Given the description of an element on the screen output the (x, y) to click on. 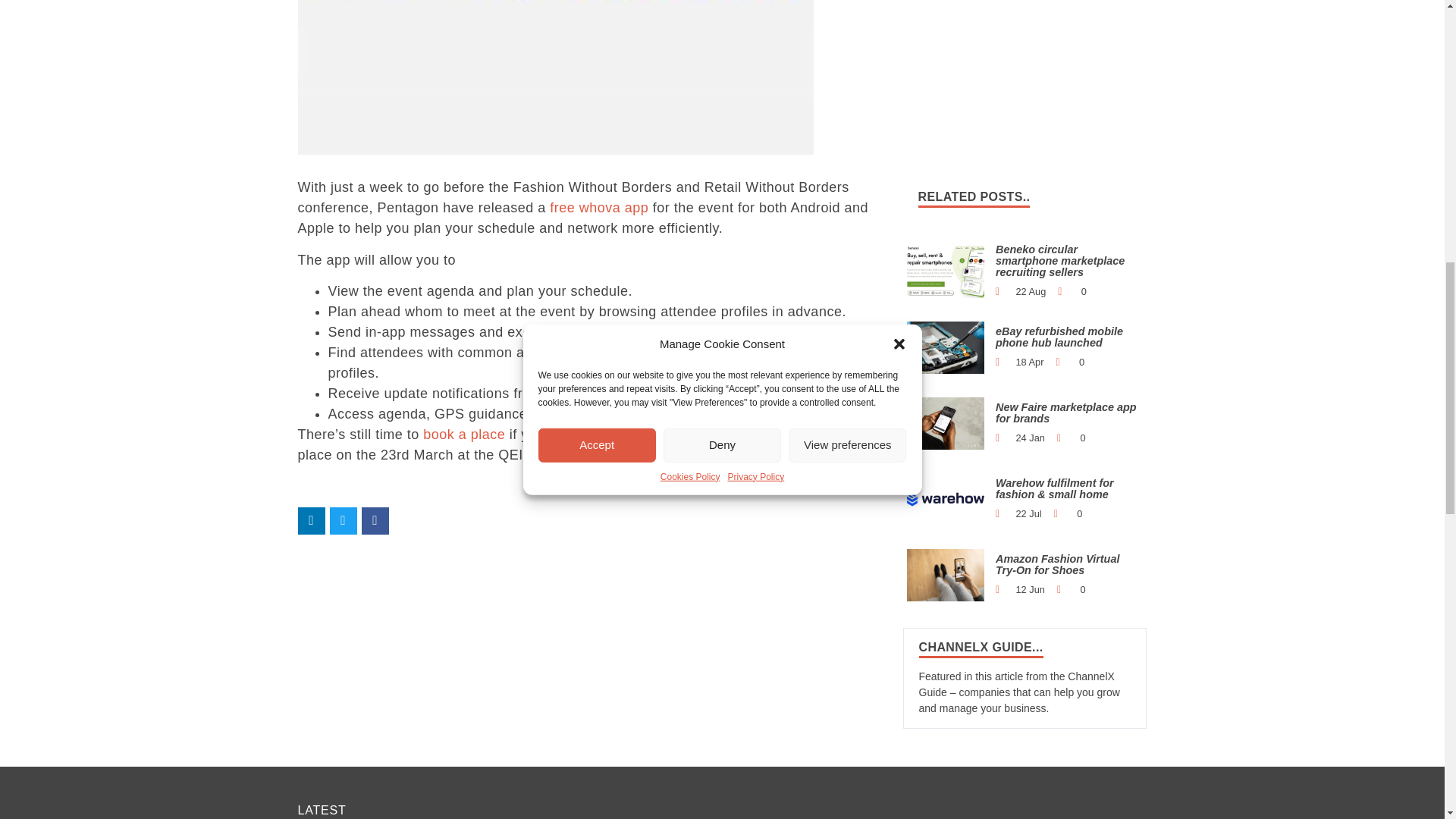
Beneko circular smartphone marketplace recruiting sellers (946, 271)
New Faire marketplace app for brands (946, 422)
Warehow-fulfilment-for-fashion-small-home (946, 498)
eBay refurbished mobile phone hub launched (946, 347)
